Given the description of an element on the screen output the (x, y) to click on. 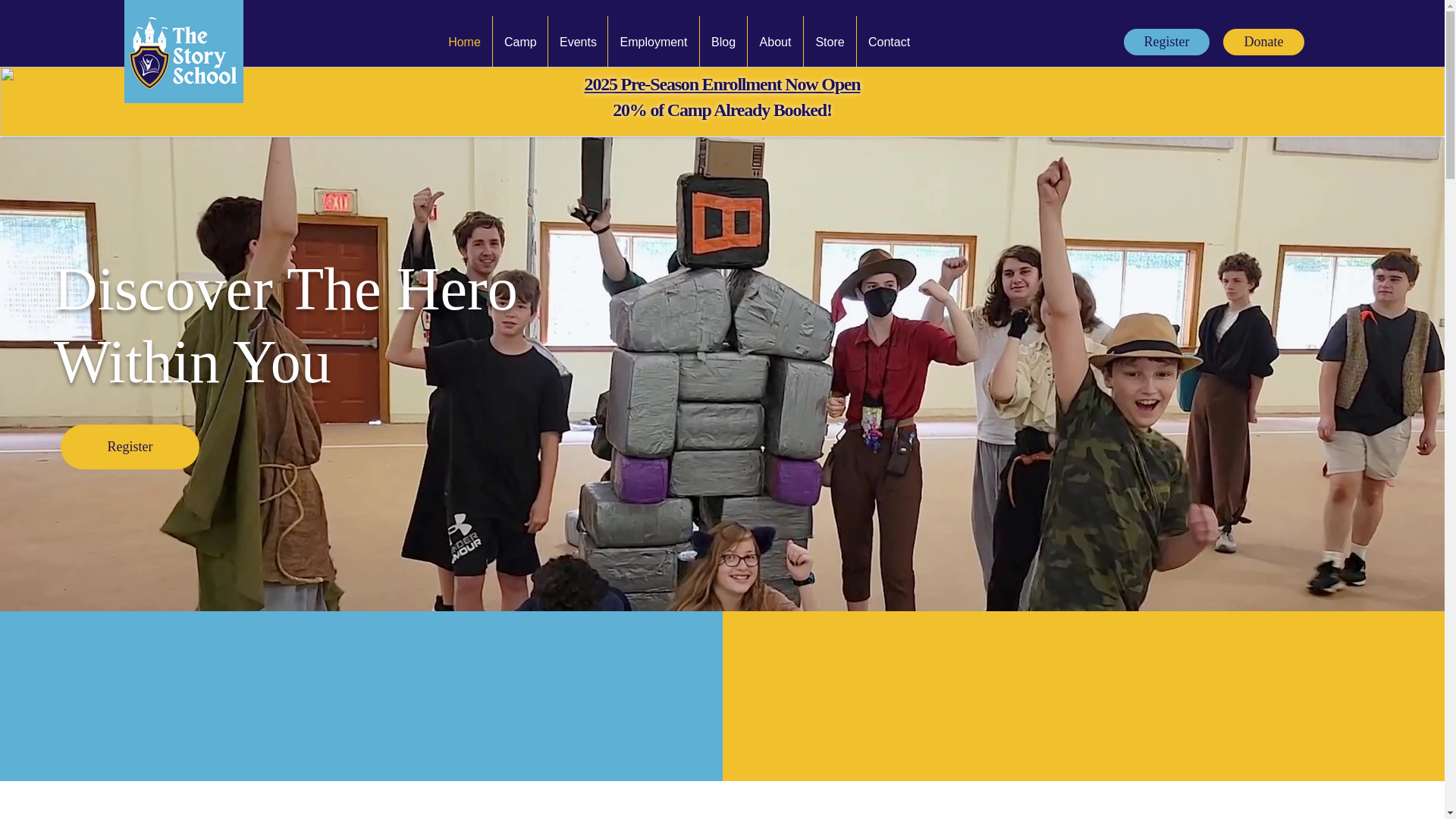
Events (577, 41)
Donate (1263, 41)
Camp (520, 41)
Register (1166, 41)
Blog (723, 41)
About (775, 41)
Store (829, 41)
Register (130, 447)
Contact (889, 41)
Home (464, 41)
